Given the description of an element on the screen output the (x, y) to click on. 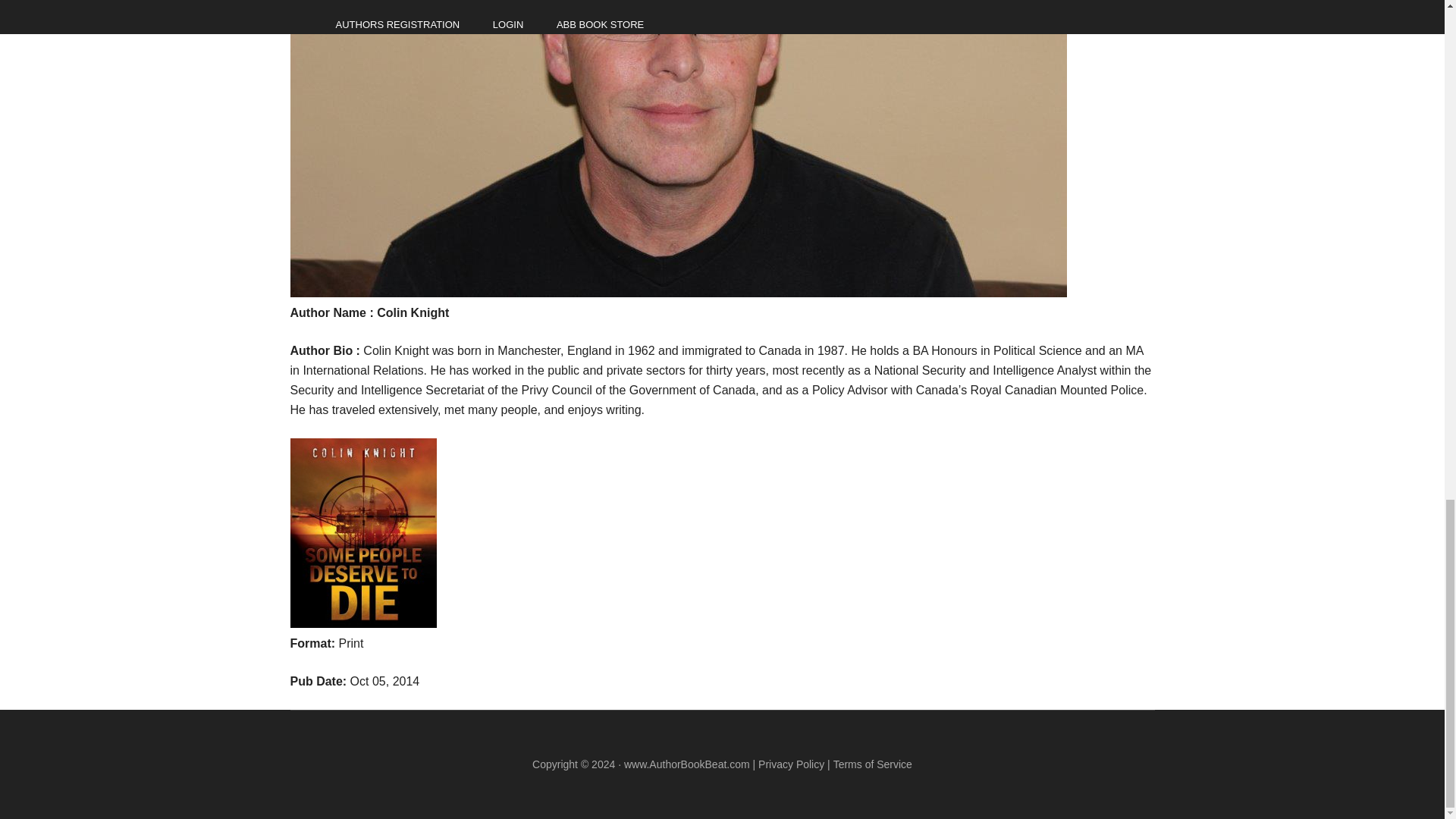
Privacy Policy (791, 764)
Terms of Service (872, 764)
